Given the description of an element on the screen output the (x, y) to click on. 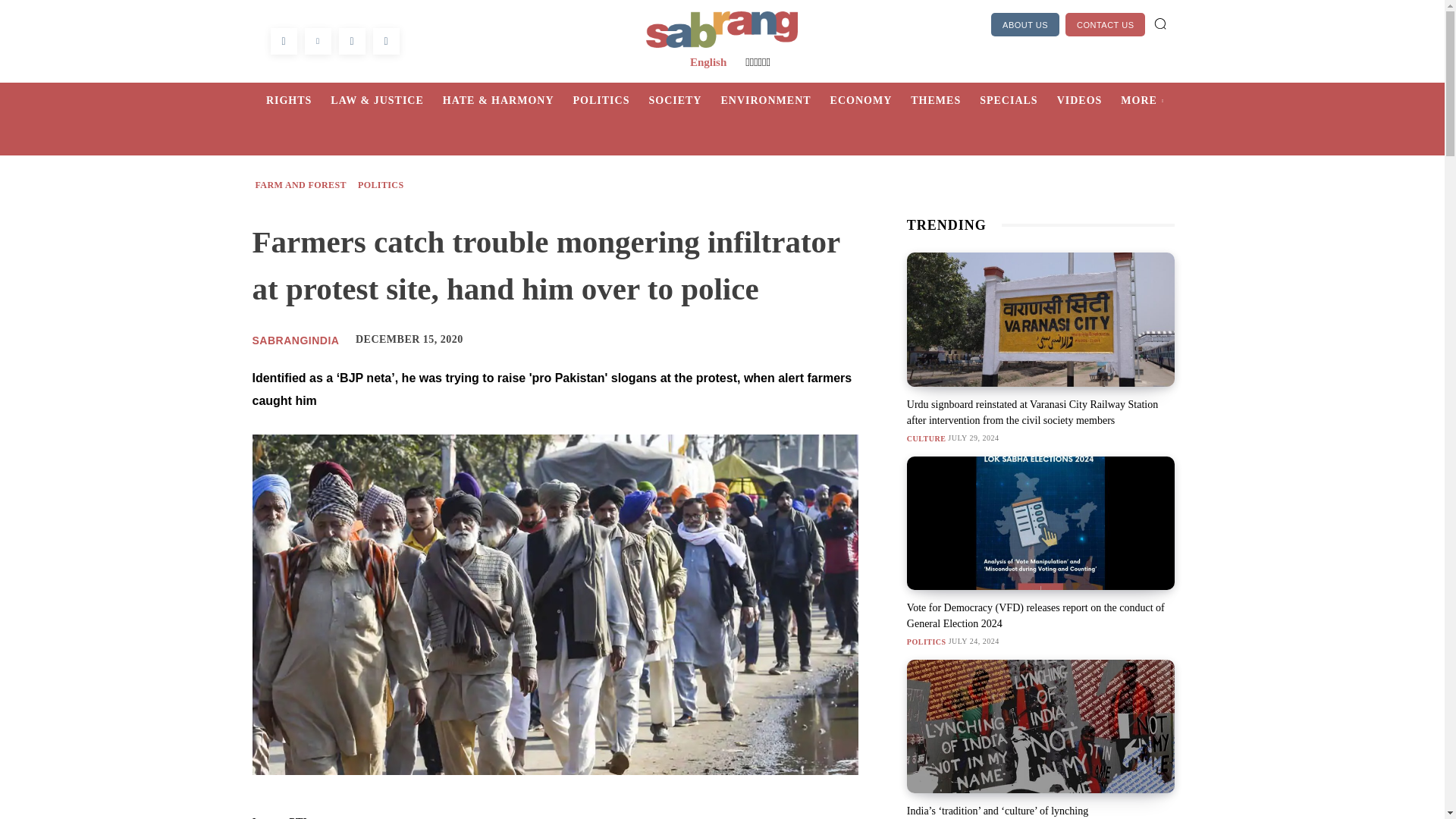
RIGHTS (298, 100)
POLITICS (611, 100)
ECONOMY (870, 100)
ABOUT US (1025, 24)
ENVIRONMENT (774, 100)
English (708, 61)
CONTACT US (1105, 24)
Youtube (385, 40)
WhatsApp (351, 40)
SOCIETY (683, 100)
Facebook (283, 40)
THEMES (945, 100)
Twitter (317, 40)
